Given the description of an element on the screen output the (x, y) to click on. 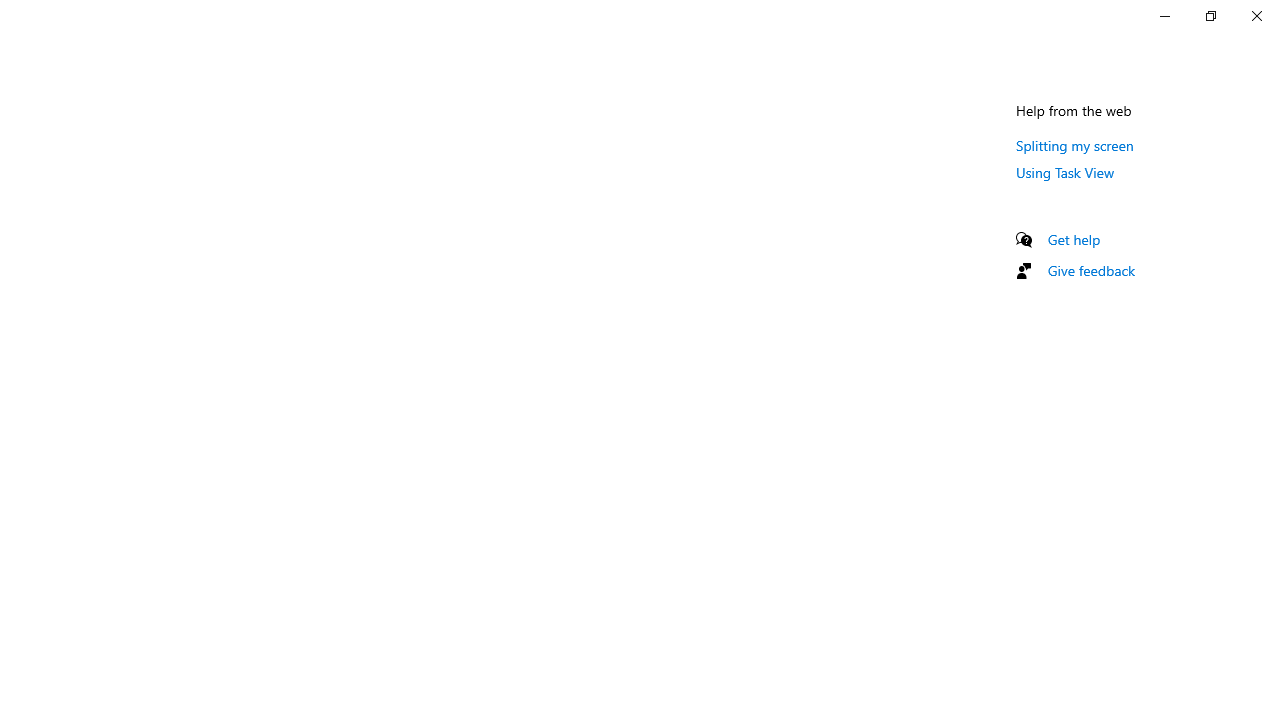
Give feedback (1091, 270)
Using Task View (1065, 172)
Splitting my screen (1075, 145)
Minimize Settings (1164, 15)
Close Settings (1256, 15)
Get help (1074, 239)
Restore Settings (1210, 15)
